Given the description of an element on the screen output the (x, y) to click on. 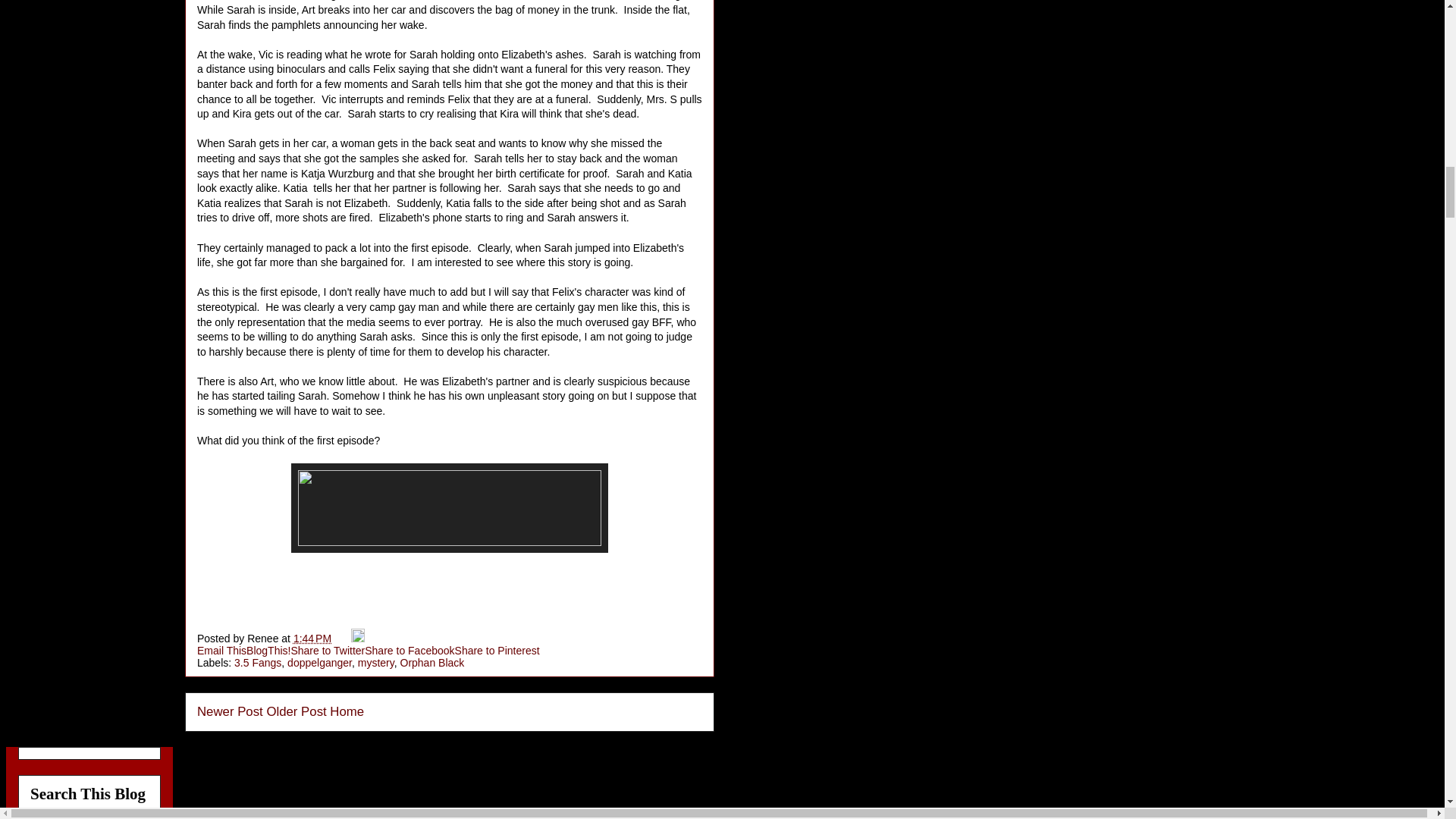
Newer Post (229, 711)
Share to Twitter (327, 650)
Share to Facebook (409, 650)
Newer Post (229, 711)
mystery (376, 662)
Share to Facebook (409, 650)
Older Post (296, 711)
BlogThis! (267, 650)
BlogThis! (267, 650)
Email This (221, 650)
Share to Pinterest (497, 650)
Edit Post (357, 638)
Share to Pinterest (497, 650)
doppelganger (319, 662)
